Given the description of an element on the screen output the (x, y) to click on. 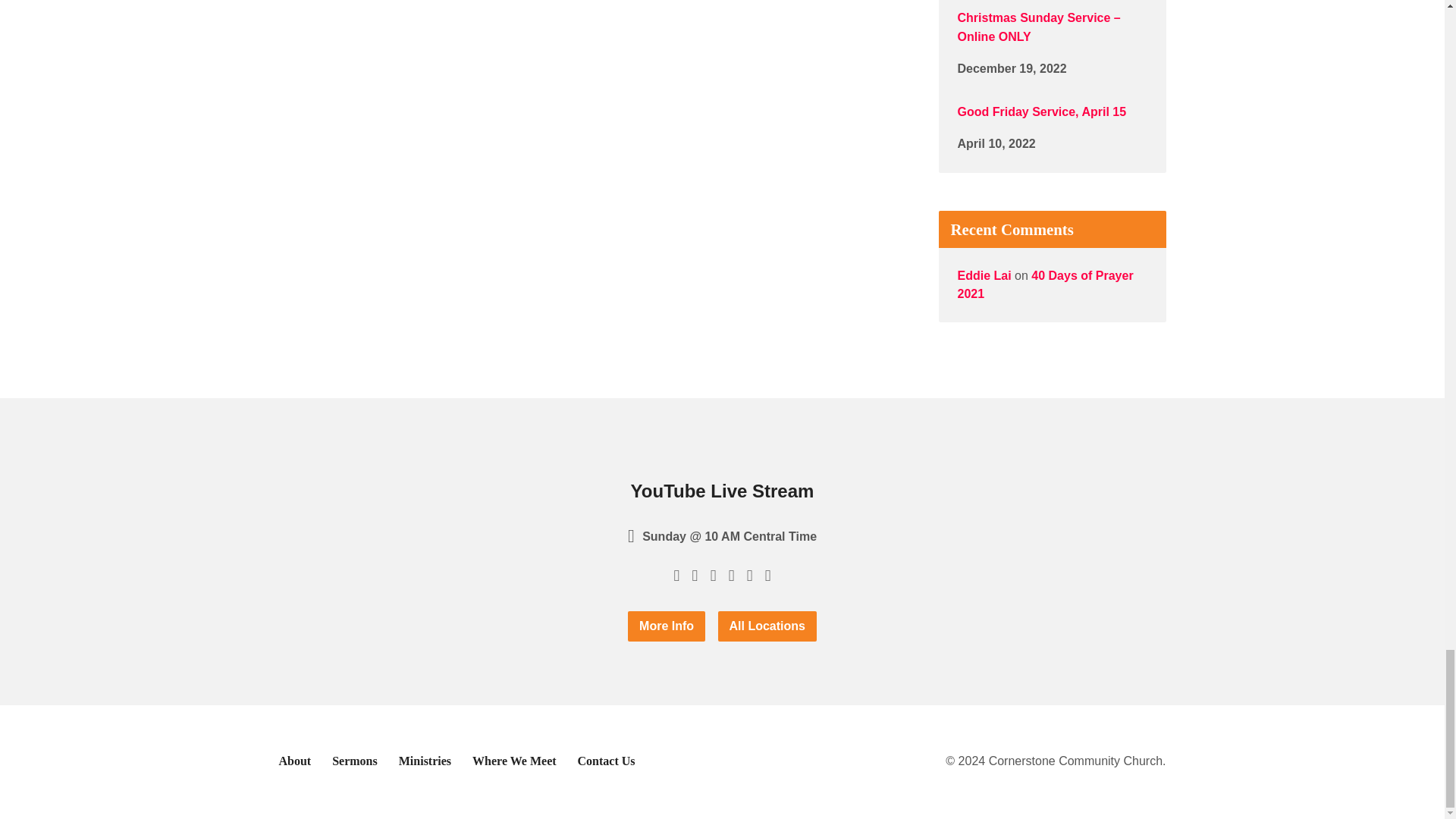
Good Friday Service, April 15 (1040, 111)
